Given the description of an element on the screen output the (x, y) to click on. 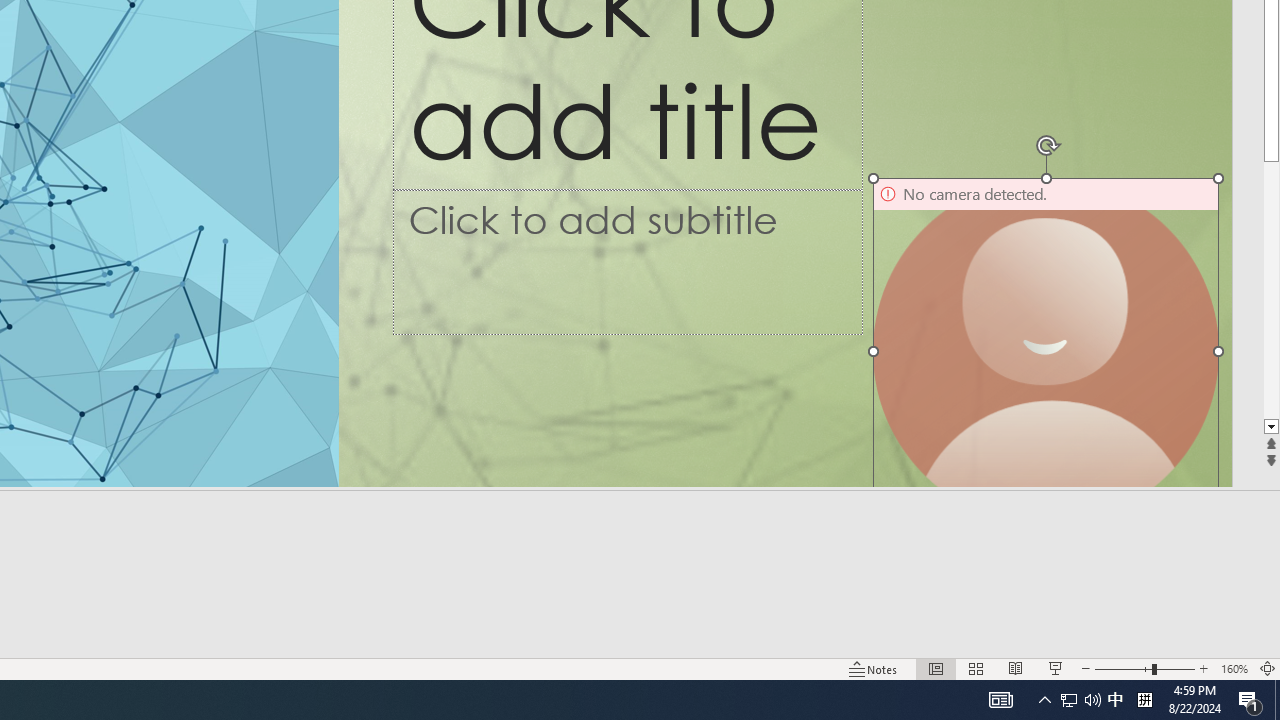
Zoom 160% (1234, 668)
